Given the description of an element on the screen output the (x, y) to click on. 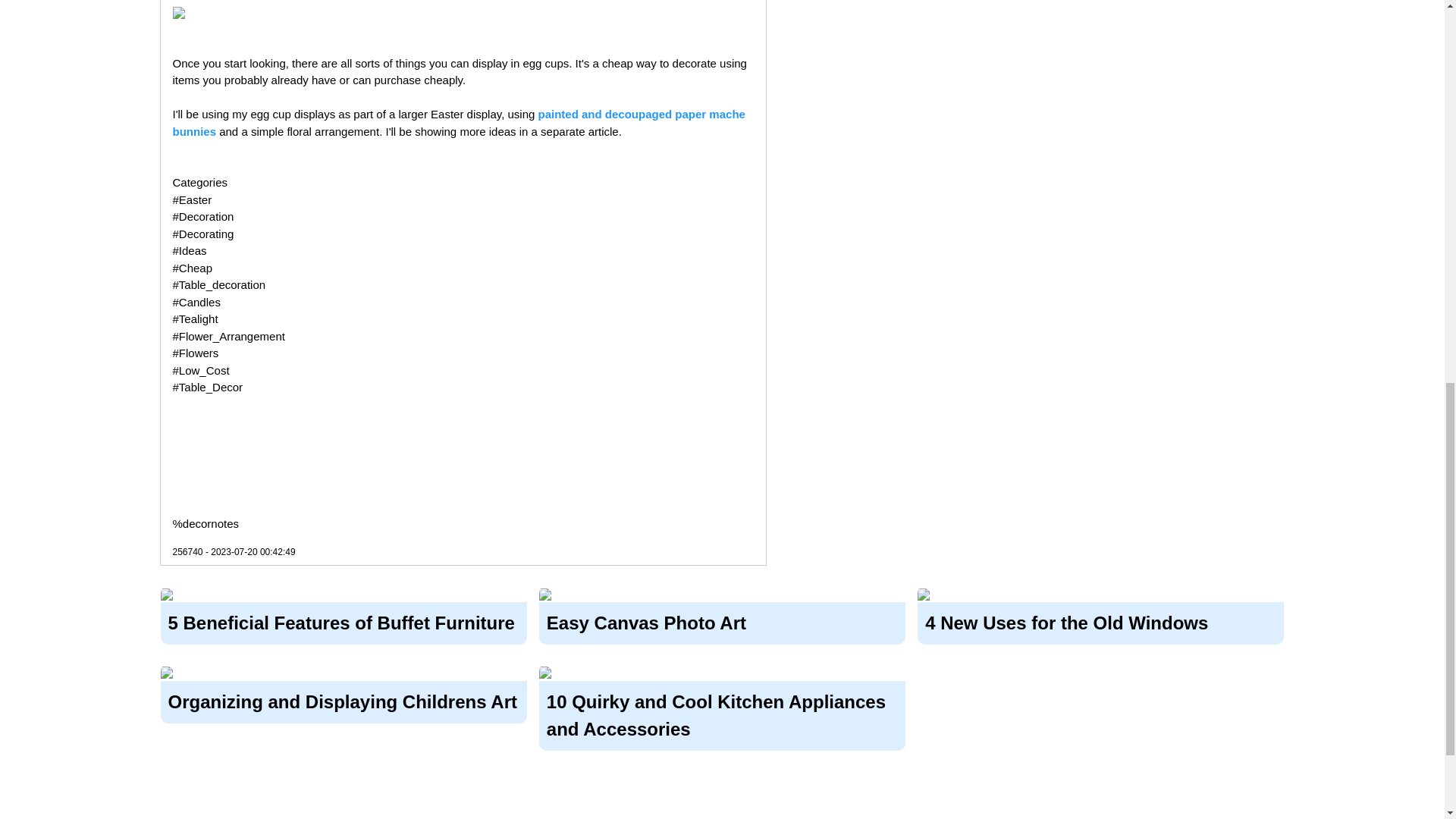
4 New Uses for the Old Windows (1100, 620)
5 Beneficial Features of Buffet Furniture (343, 620)
Easy Canvas Photo Art (721, 620)
10 Quirky and Cool Kitchen Appliances and Accessories (721, 712)
painted and decoupaged paper mache bunnies (459, 122)
Organizing and Displaying Childrens Art (343, 698)
